Given the description of an element on the screen output the (x, y) to click on. 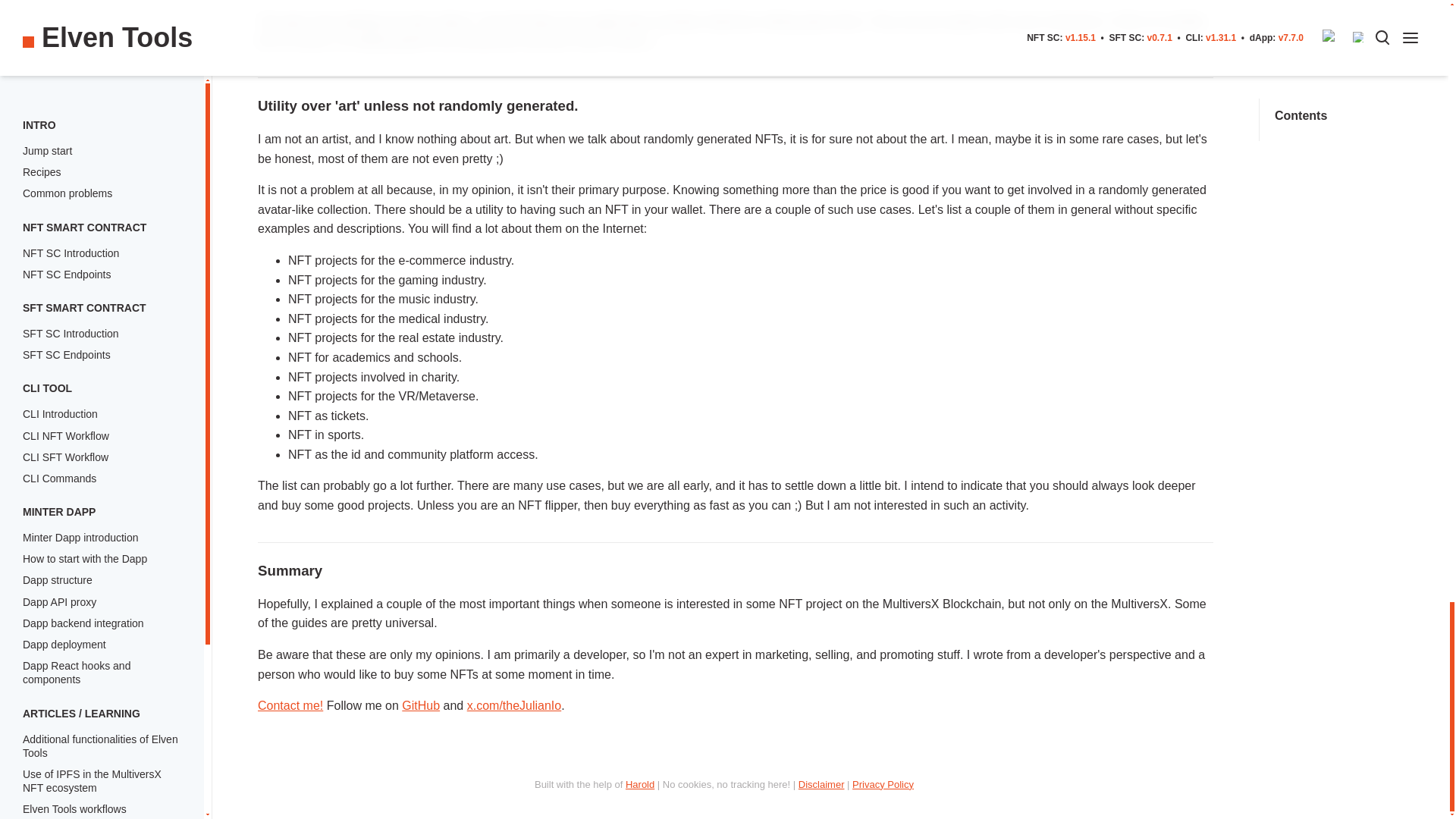
Harold (639, 784)
Disclaimer (820, 784)
Privacy Policy (882, 784)
GitHub (420, 705)
Contact me! (290, 705)
